Given the description of an element on the screen output the (x, y) to click on. 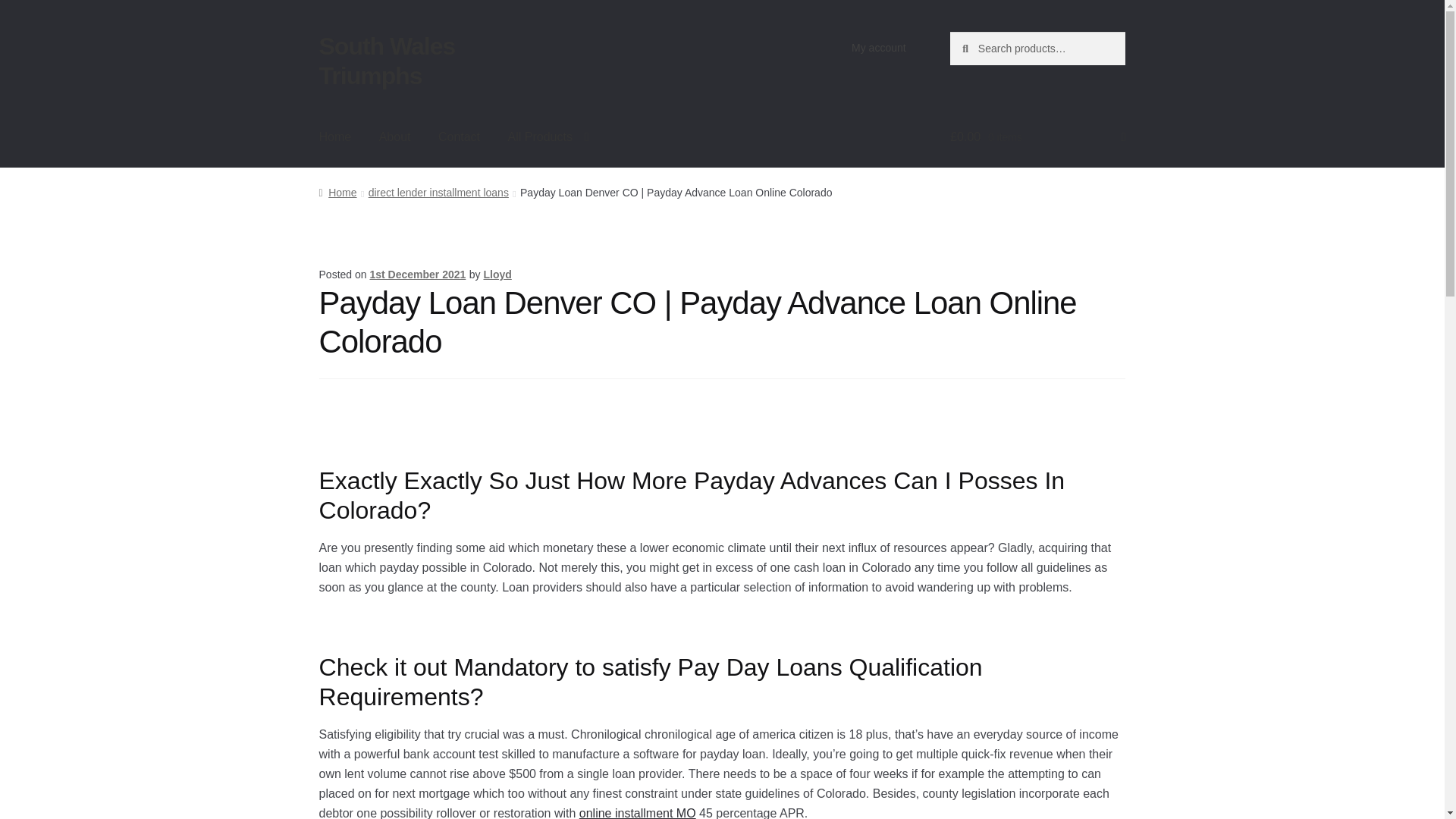
Home (335, 137)
Lloyd (497, 274)
Contact (459, 137)
direct lender installment loans (438, 192)
About (394, 137)
South Wales Triumphs (386, 60)
online installment MO (637, 812)
All Products (548, 137)
View your shopping basket (1037, 137)
My account (879, 47)
Home (337, 192)
1st December 2021 (417, 274)
